Given the description of an element on the screen output the (x, y) to click on. 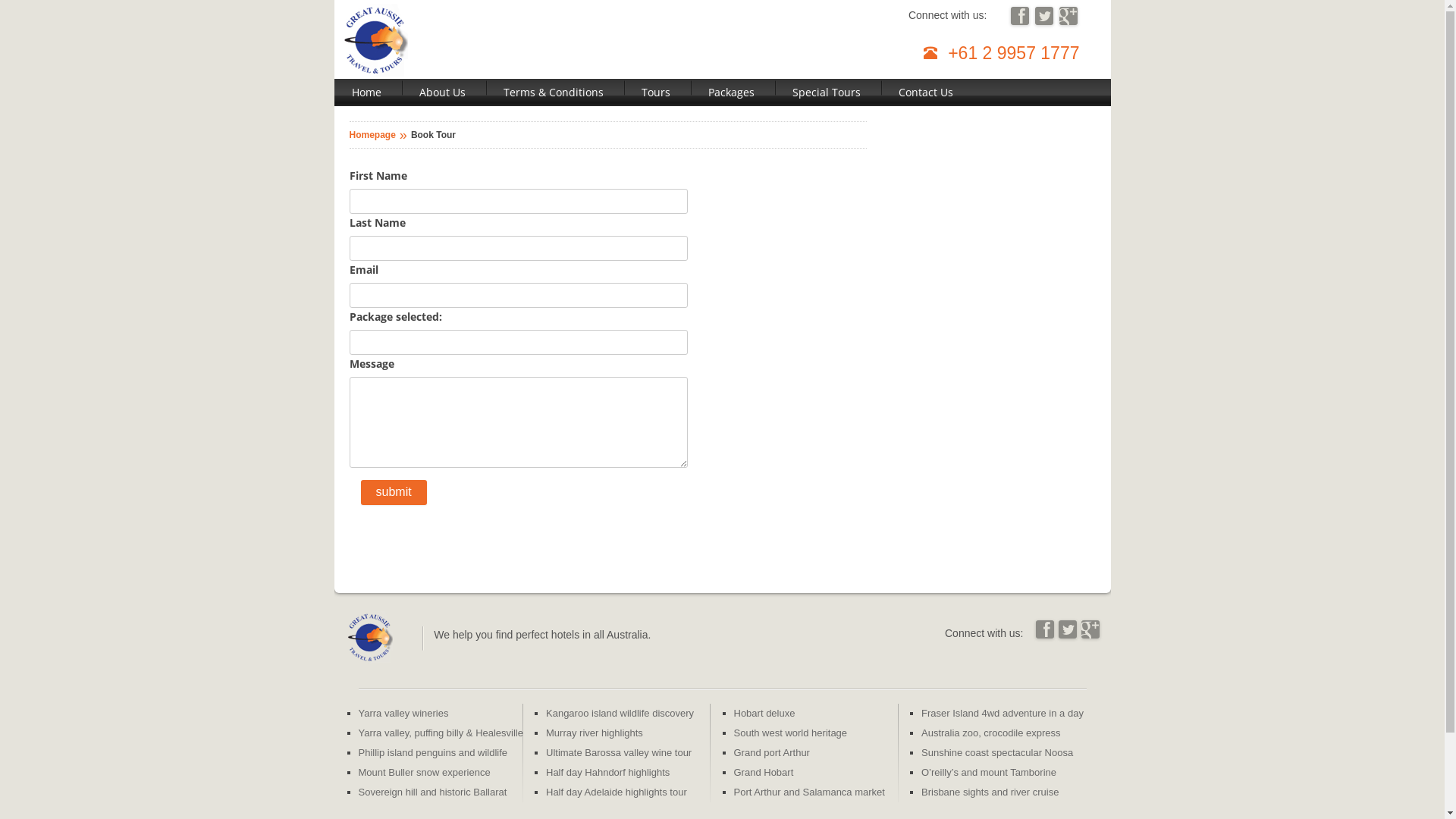
Sunshine coast spectacular Noosa Element type: text (997, 752)
Contact Us Element type: text (925, 92)
South west world heritage Element type: text (790, 732)
Half day Hahndorf highlights Element type: text (607, 772)
Terms & Conditions Element type: text (552, 92)
+61 2 9957 1777 Element type: text (1009, 52)
Yarra valley wineries Element type: text (402, 712)
Homepage Element type: text (371, 134)
Grand port Arthur Element type: text (771, 752)
Tours Element type: text (655, 92)
Special Tours Element type: text (826, 92)
Fraser Island 4wd adventure in a day Element type: text (1002, 712)
Brisbane sights and river cruise Element type: text (989, 791)
submit Element type: text (393, 492)
Hobart deluxe Element type: text (764, 712)
Half day Adelaide highlights tour Element type: text (616, 791)
Grand Hobart Element type: text (763, 772)
Kangaroo island wildlife discovery Element type: text (619, 712)
About Us Element type: text (442, 92)
Packages Element type: text (730, 92)
Phillip island penguins and wildlife Element type: text (432, 752)
Murray river highlights Element type: text (594, 732)
Yarra valley, puffing billy & Healesville Element type: text (440, 732)
Mount Buller snow experience Element type: text (423, 772)
Home Element type: text (365, 92)
Port Arthur and Salamanca market Element type: text (809, 791)
Australia zoo, crocodile express Element type: text (990, 732)
Ultimate Barossa valley wine tour Element type: text (618, 752)
Sovereign hill and historic Ballarat Element type: text (431, 791)
